Given the description of an element on the screen output the (x, y) to click on. 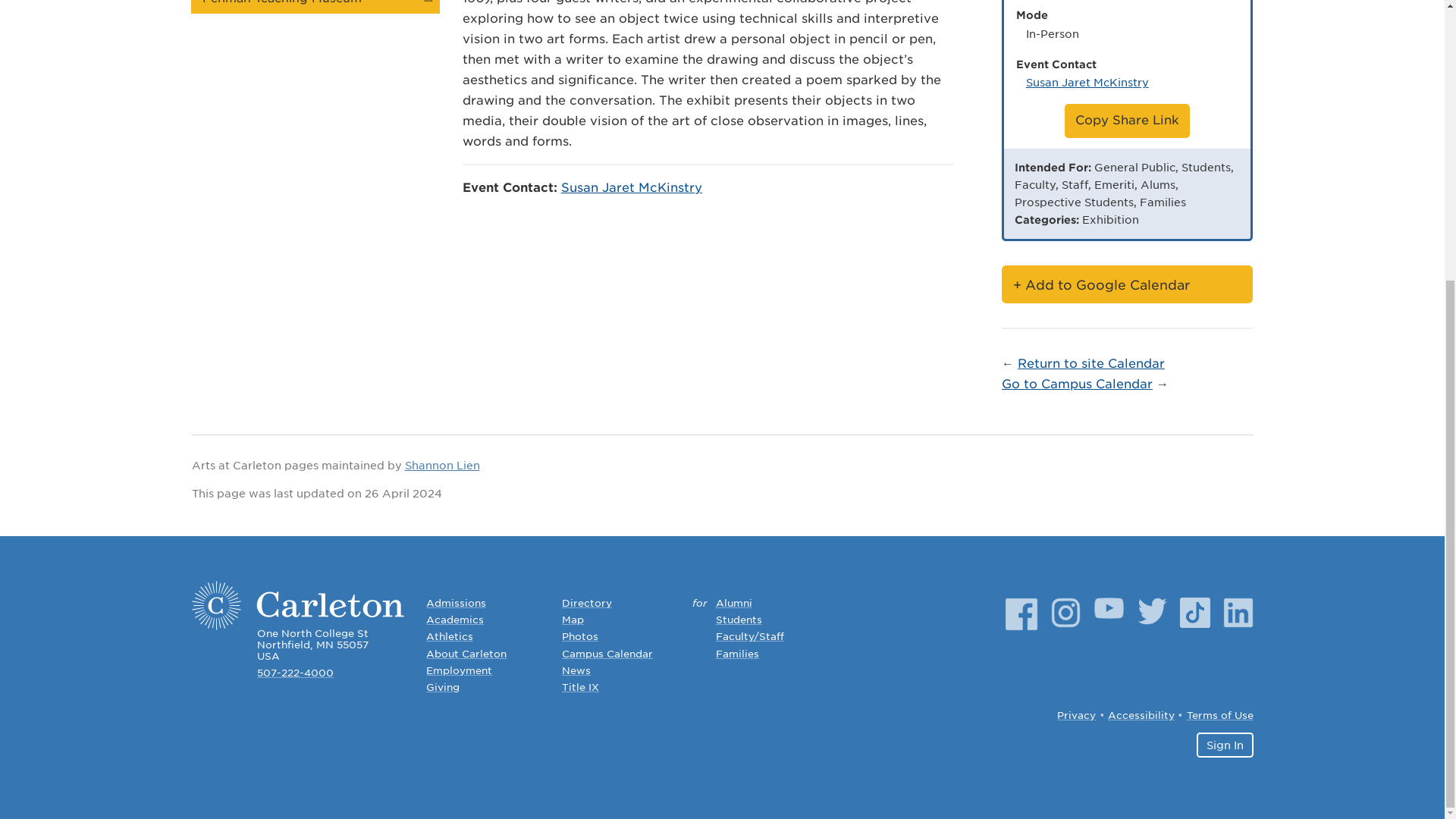
Shannon Lien (442, 465)
507-222-4000 (295, 672)
Copy Share Link (1126, 121)
Susan Jaret McKinstry (1087, 82)
Go to Campus Calendar (1077, 383)
Return to site Calendar (1090, 363)
Susan Jaret McKinstry (630, 187)
Perlman Teaching Museum (314, 6)
